Given the description of an element on the screen output the (x, y) to click on. 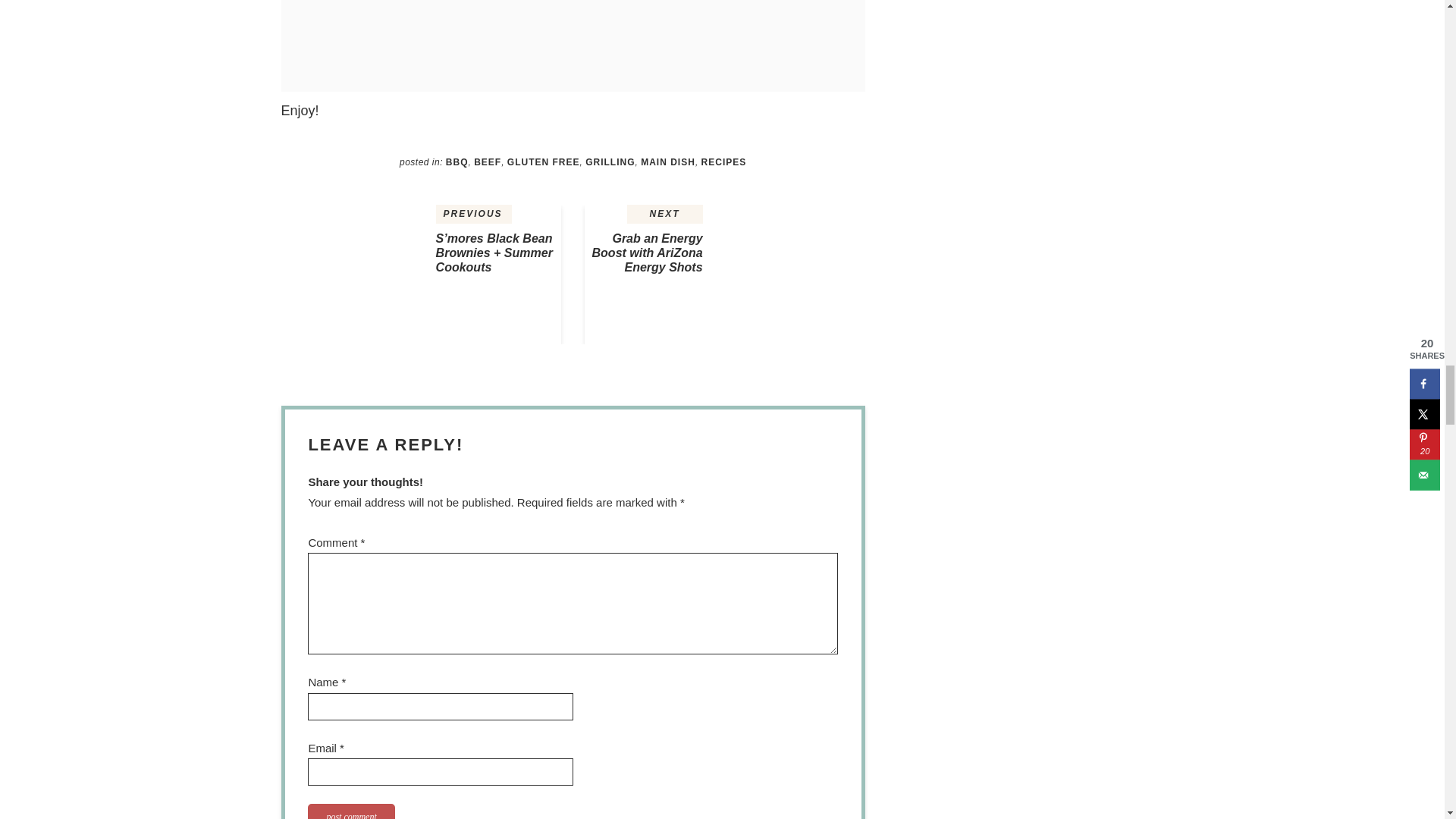
Post Comment (350, 811)
